Given the description of an element on the screen output the (x, y) to click on. 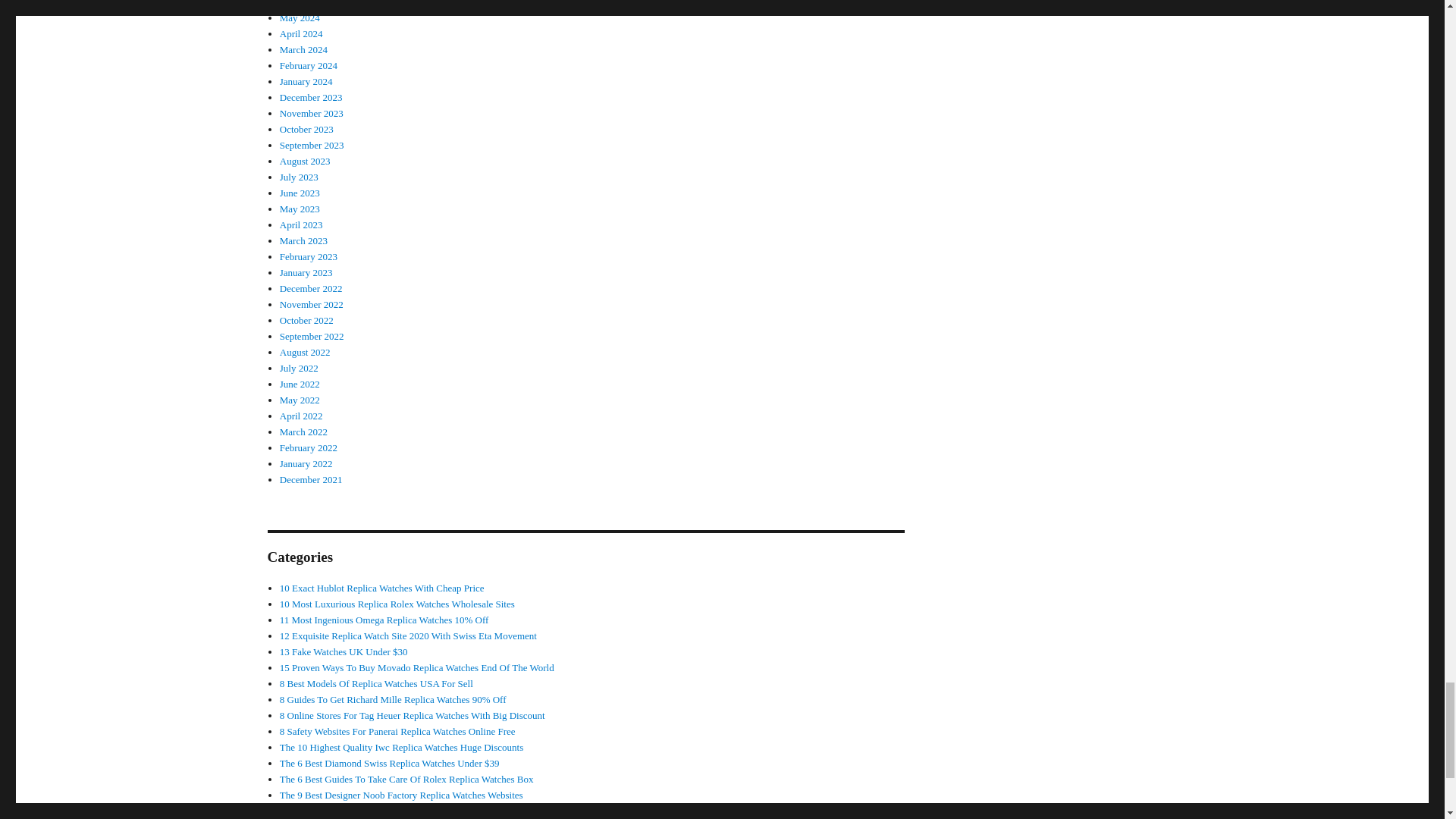
June 2023 (299, 193)
May 2024 (299, 17)
October 2022 (306, 319)
March 2023 (303, 240)
December 2022 (310, 288)
July 2023 (298, 176)
November 2023 (311, 112)
October 2023 (306, 129)
December 2023 (310, 97)
January 2024 (306, 81)
